Given the description of an element on the screen output the (x, y) to click on. 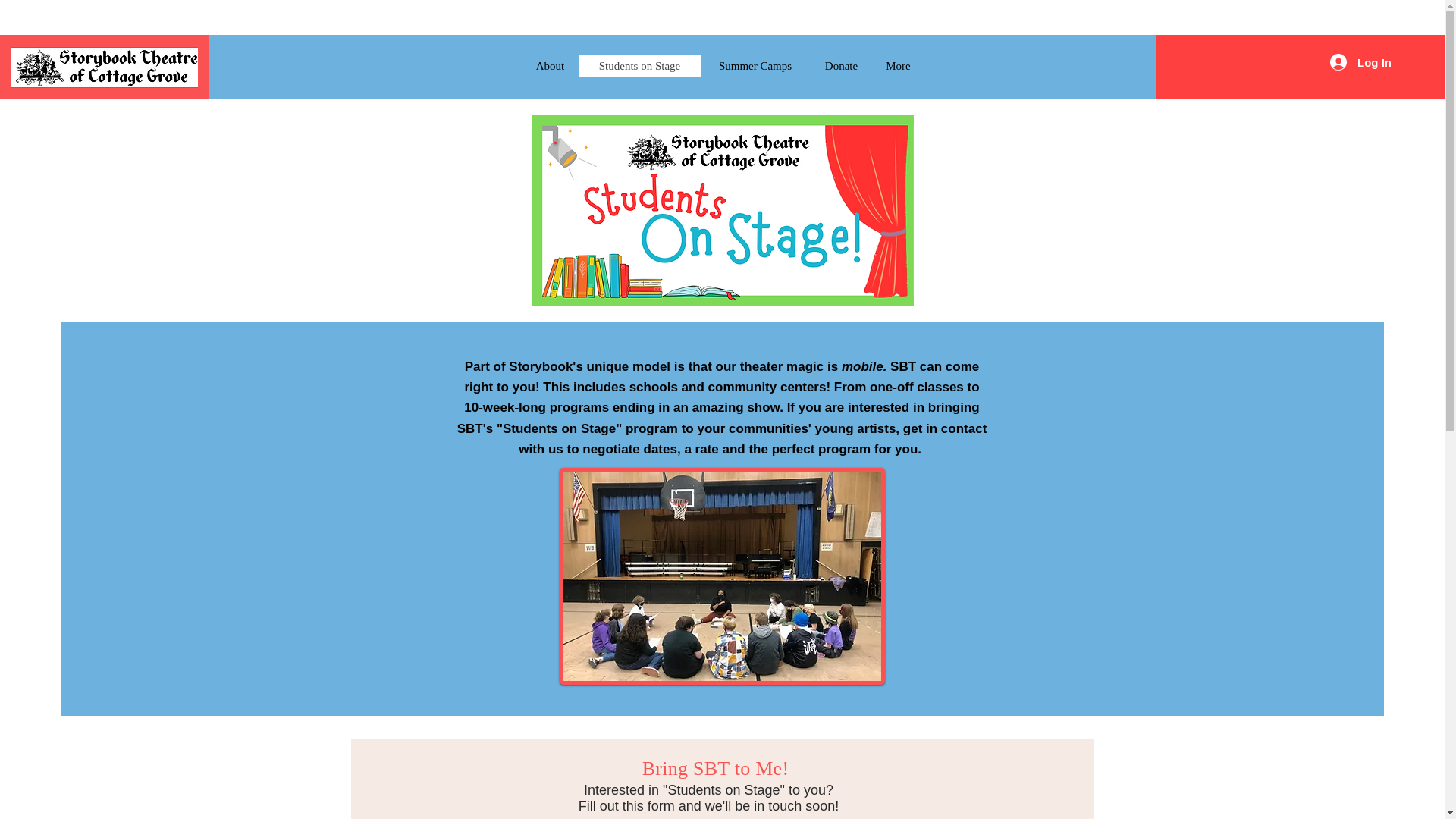
Students on Stage (639, 65)
Donate (840, 65)
About (549, 65)
Log In (1360, 62)
Summer Camps (754, 65)
